Given the description of an element on the screen output the (x, y) to click on. 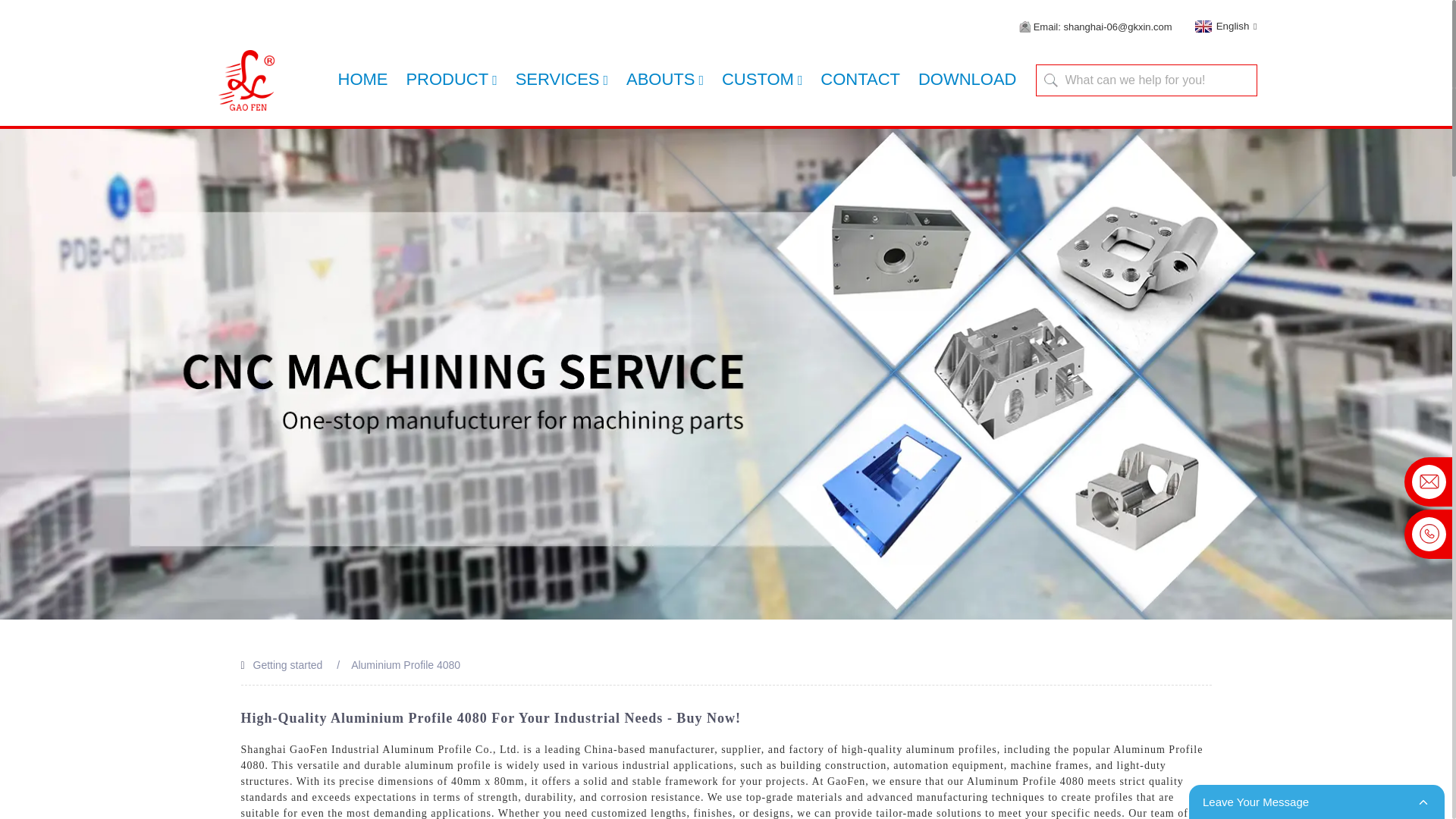
English (1224, 25)
SERVICES (561, 79)
Aluminium Profile 4080 (405, 664)
DOWNLOAD (967, 79)
Getting started (288, 664)
ABOUTS (664, 79)
PRODUCT (451, 79)
CUSTOM (762, 79)
CONTACT (860, 79)
HOME (362, 79)
